Given the description of an element on the screen output the (x, y) to click on. 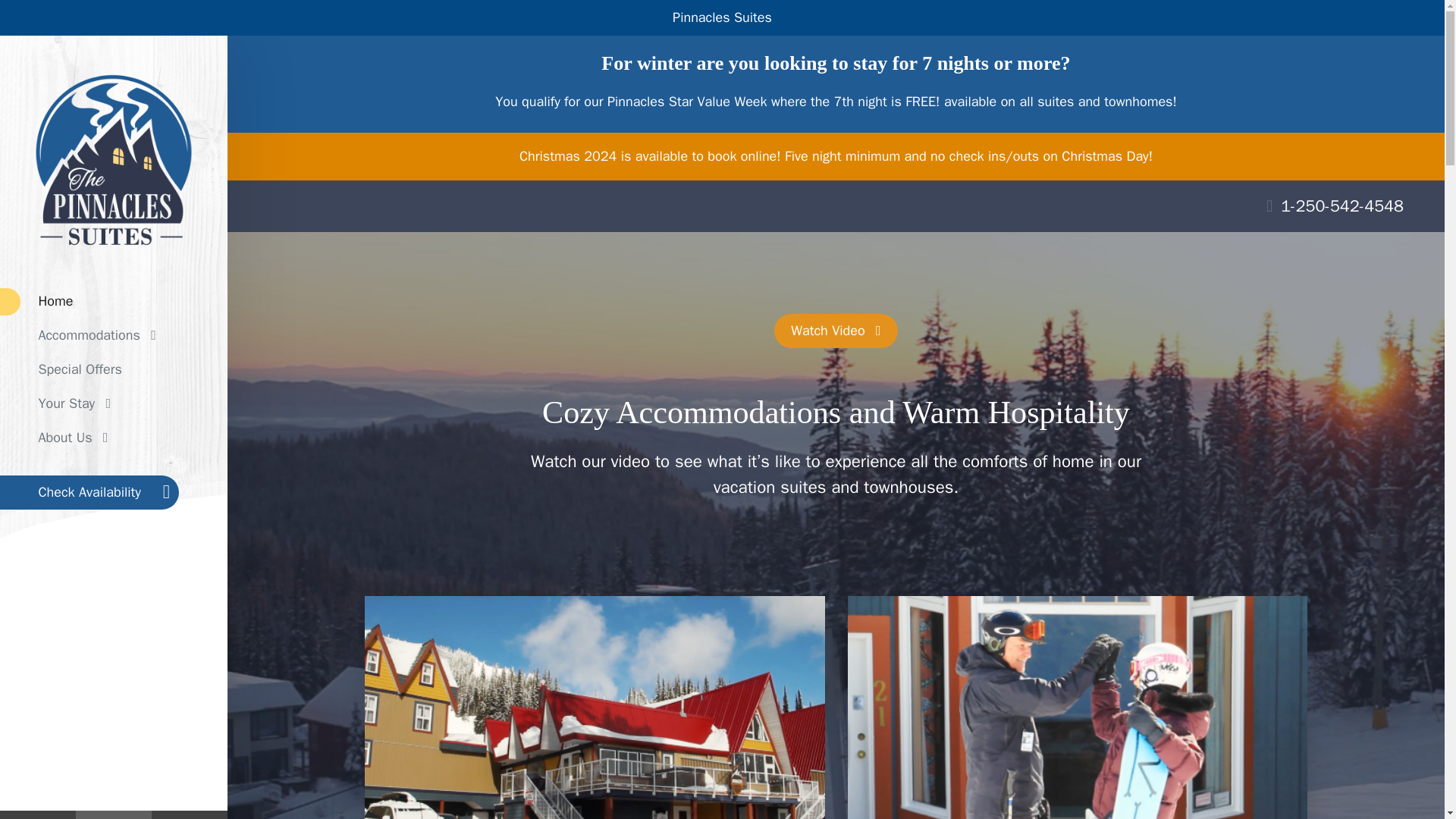
1-250-542-4548 (1334, 205)
Check Availability (89, 492)
Your Stay (113, 403)
Accommodations (113, 335)
About Us (113, 437)
Watch Video (836, 330)
Special Offers (113, 369)
Home (113, 301)
About Us (113, 437)
Your Stay (113, 403)
